Given the description of an element on the screen output the (x, y) to click on. 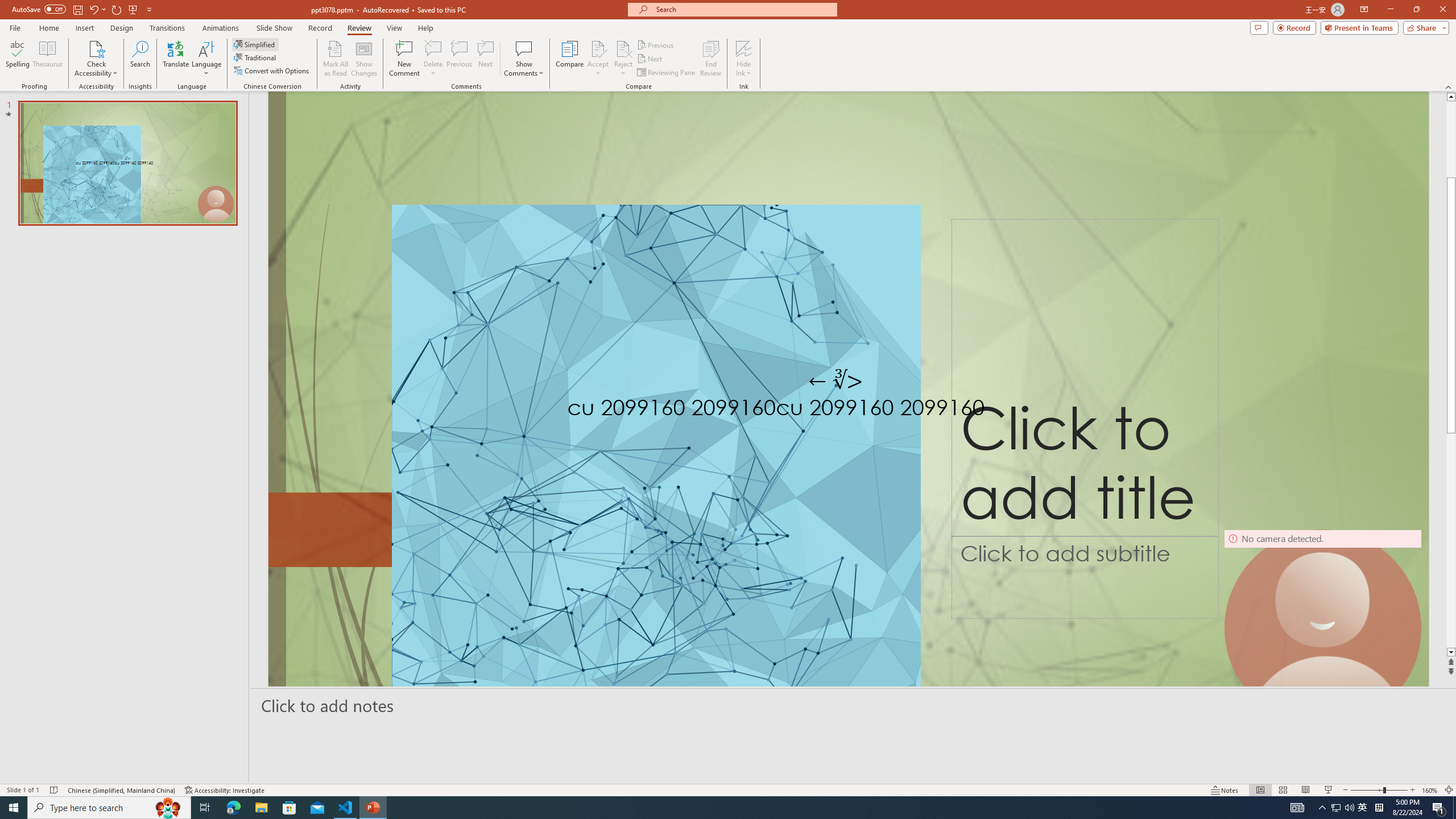
Translate (175, 58)
Accept Change (598, 48)
